Given the description of an element on the screen output the (x, y) to click on. 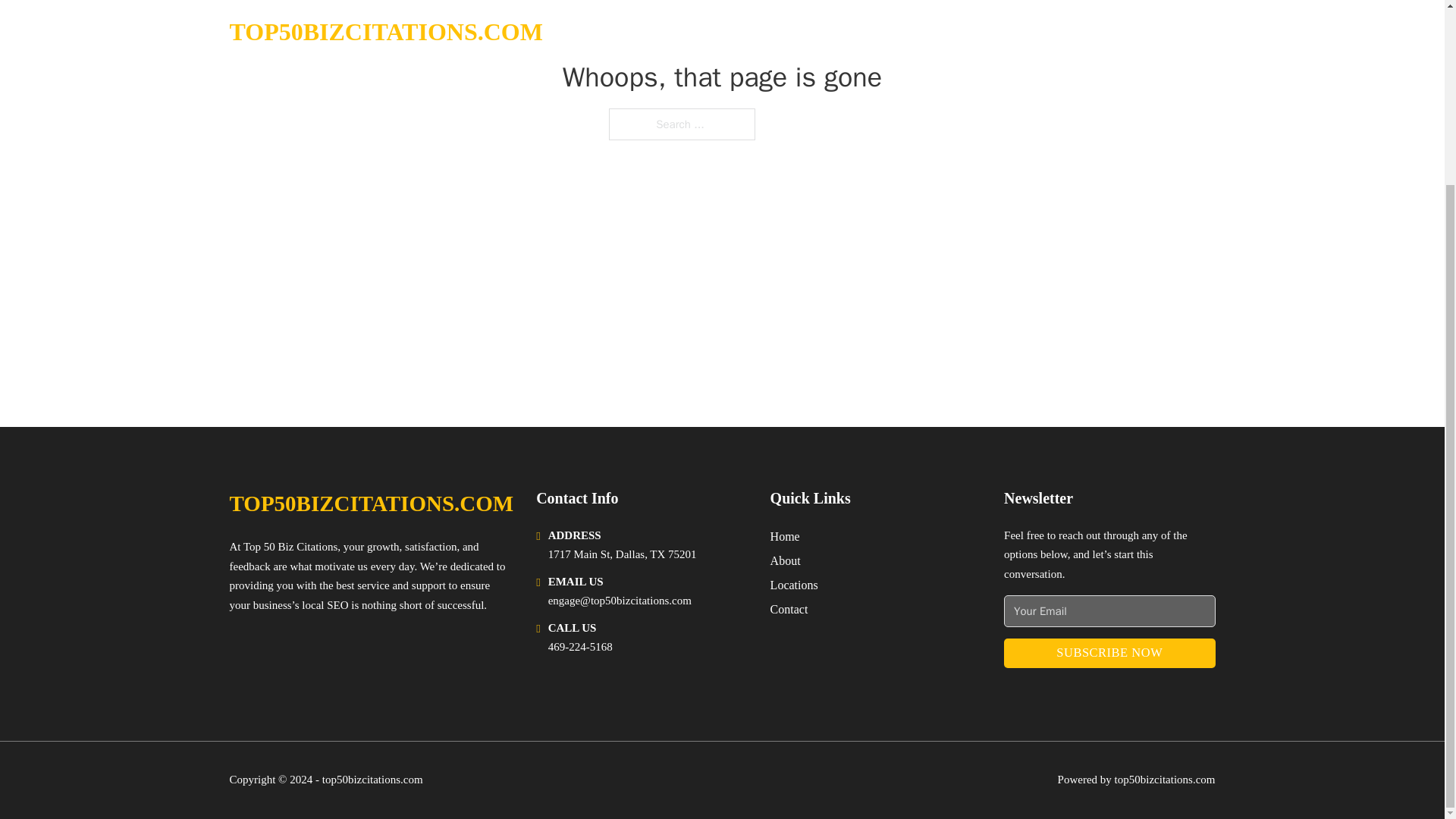
Home (784, 536)
Locations (794, 584)
TOP50BIZCITATIONS.COM (370, 503)
Contact (789, 608)
SUBSCRIBE NOW (1109, 653)
About (785, 560)
469-224-5168 (580, 646)
